Given the description of an element on the screen output the (x, y) to click on. 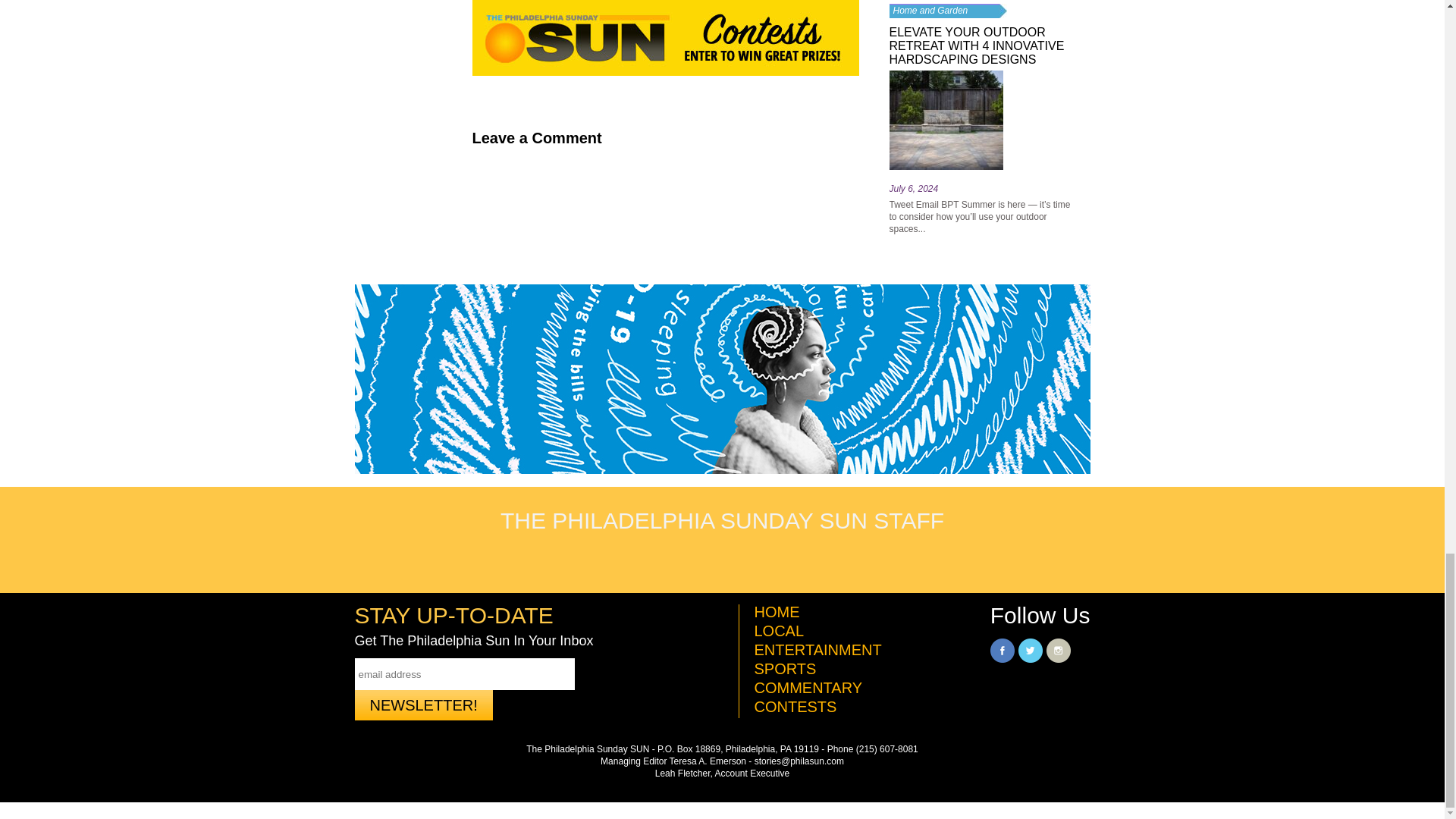
Newsletter! (424, 705)
